Given the description of an element on the screen output the (x, y) to click on. 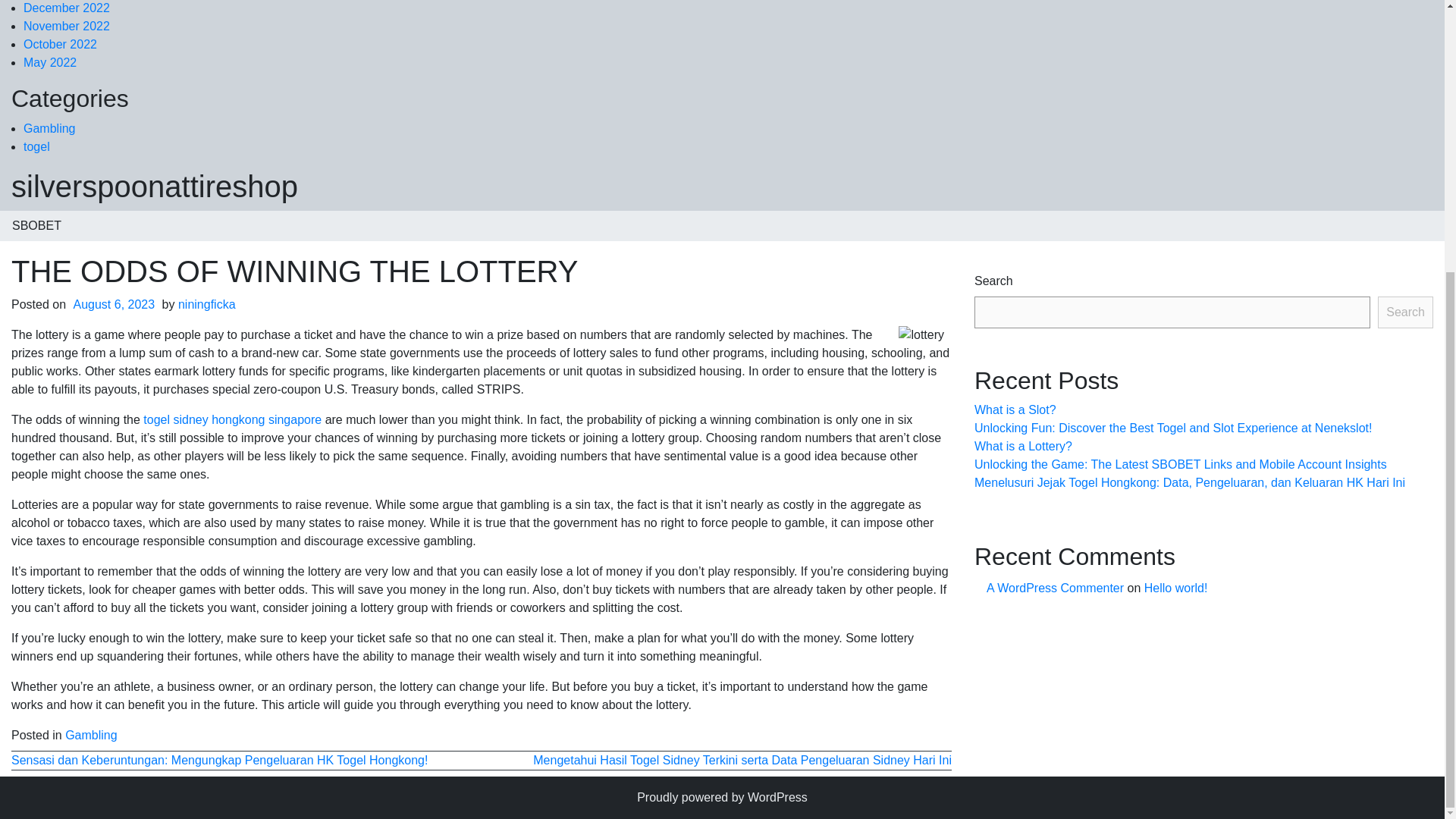
Gambling (49, 128)
Gambling (90, 735)
November 2022 (66, 25)
What is a Lottery? (1022, 445)
SBOBET (37, 225)
October 2022 (60, 43)
Search (1404, 312)
togel sidney hongkong singapore (231, 419)
togel (36, 146)
December 2022 (66, 7)
May 2022 (50, 62)
August 6, 2023 (113, 304)
